Given the description of an element on the screen output the (x, y) to click on. 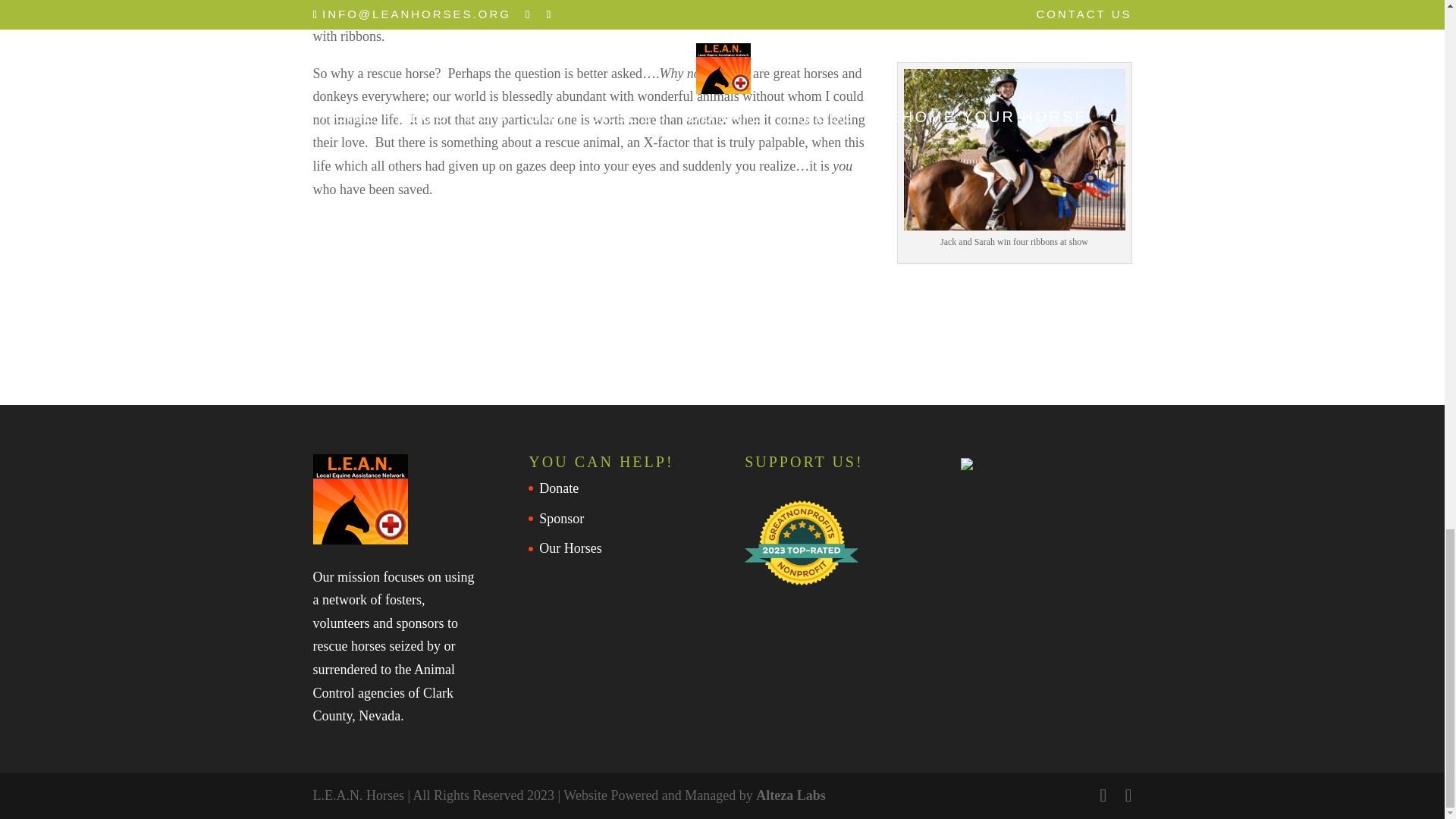
Donate (558, 488)
2023 Top-rated nonprofits and charities (801, 542)
Sponsor (560, 518)
